Given the description of an element on the screen output the (x, y) to click on. 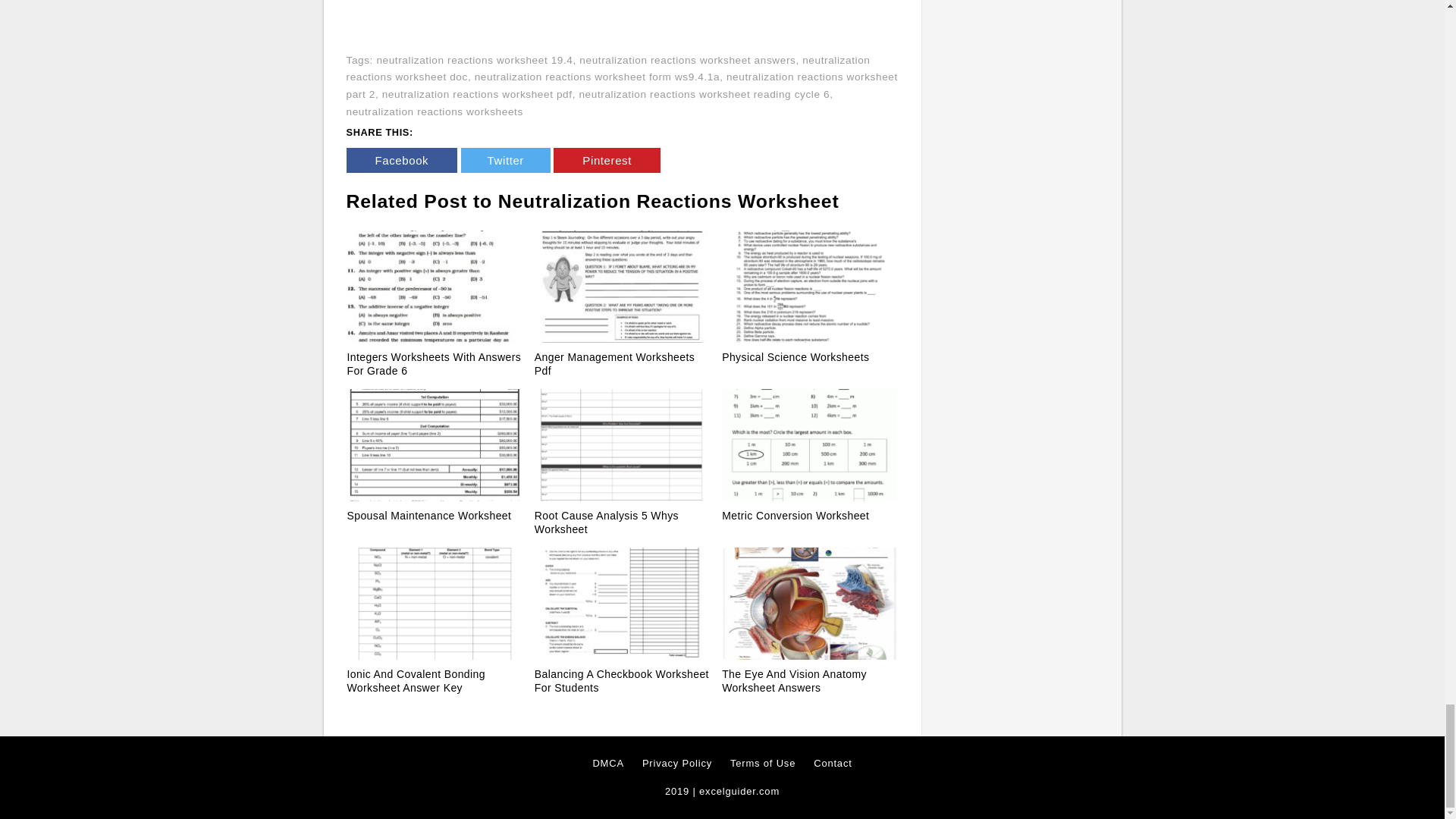
neutralization reactions worksheet pdf (476, 93)
neutralization reactions worksheet answers (686, 60)
neutralization reactions worksheet doc (607, 68)
neutralization reactions worksheet 19.4 (473, 60)
neutralization reactions worksheet part 2 (621, 85)
neutralization reactions worksheet form ws9.4.1a (596, 76)
